Given the description of an element on the screen output the (x, y) to click on. 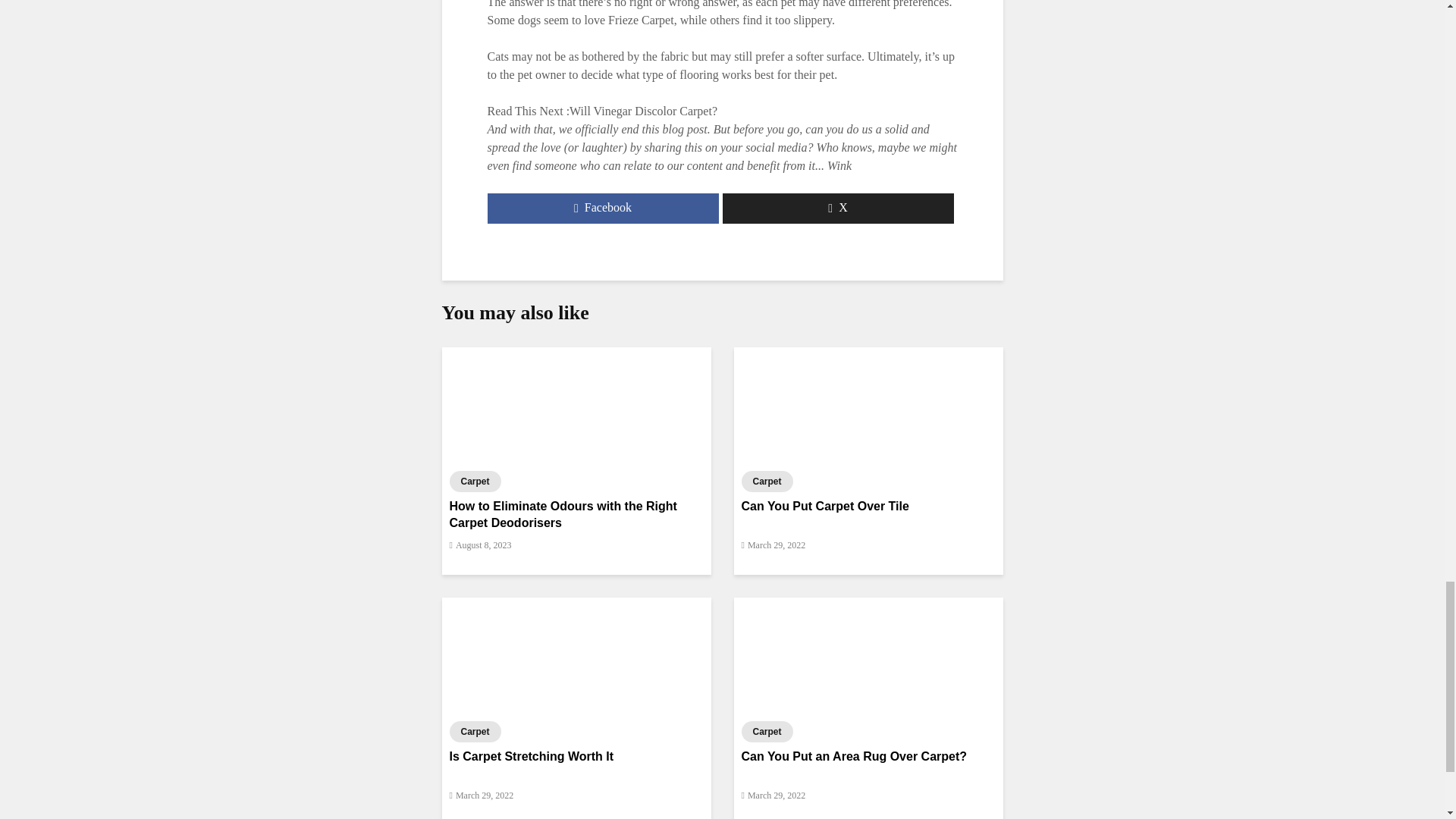
Can You Put Carpet Over Tile (868, 404)
How to Eliminate Odours with the Right Carpet Deodorisers (575, 404)
Is Carpet Stretching Worth It (575, 654)
Can You Put an Area Rug Over Carpet? (868, 654)
